Given the description of an element on the screen output the (x, y) to click on. 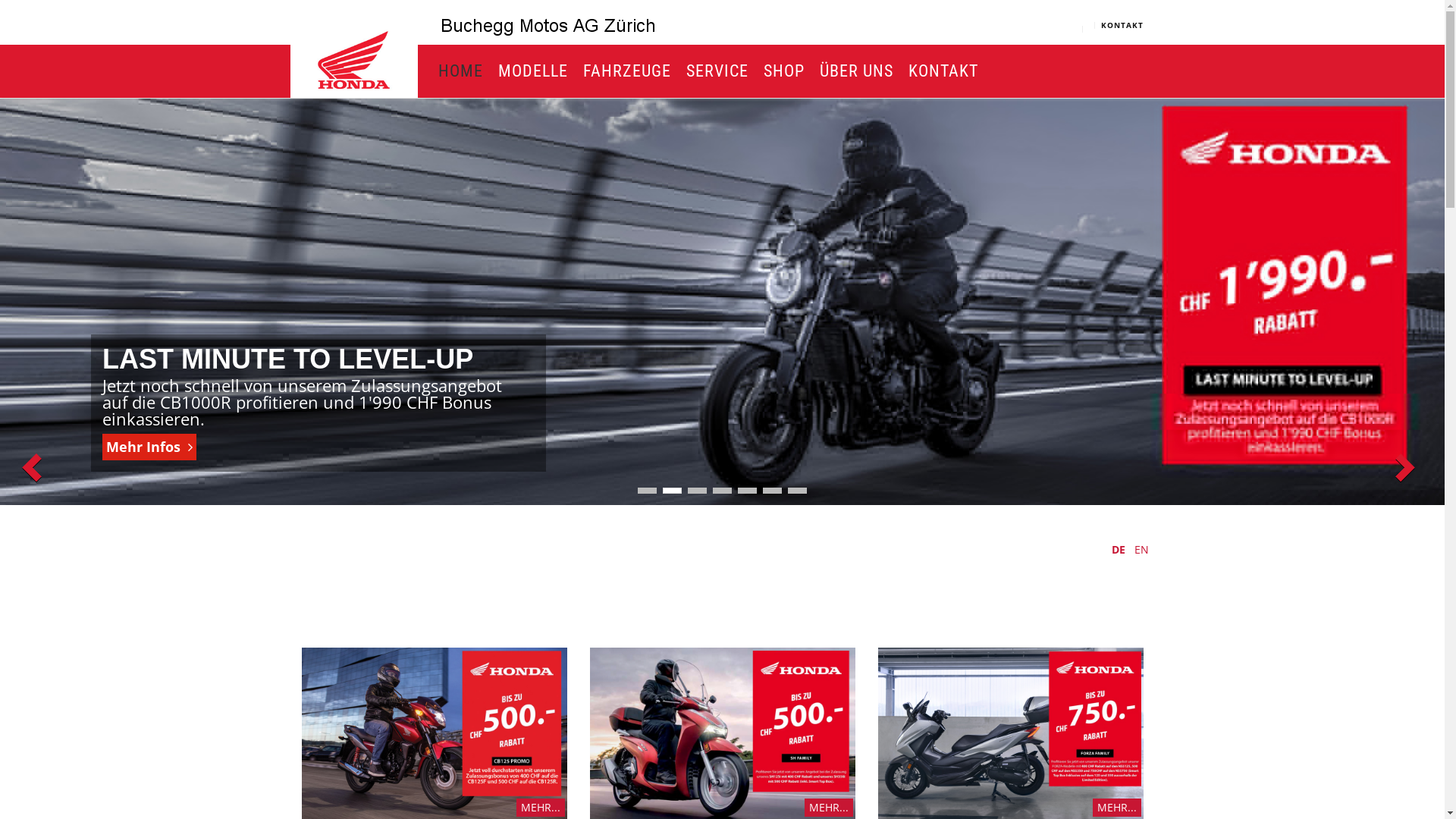
MEHR... Element type: text (827, 806)
DE Element type: text (1119, 549)
MEHR... Element type: text (539, 806)
MEHR... Element type: text (1116, 806)
KONTAKT Element type: text (1122, 24)
SERVICE Element type: text (713, 70)
KONTAKT Element type: text (938, 70)
SHOP Element type: text (780, 70)
FAHRZEUGE Element type: text (622, 70)
HOME Element type: text (456, 70)
MODELLE Element type: text (528, 70)
EN Element type: text (1142, 549)
